Given the description of an element on the screen output the (x, y) to click on. 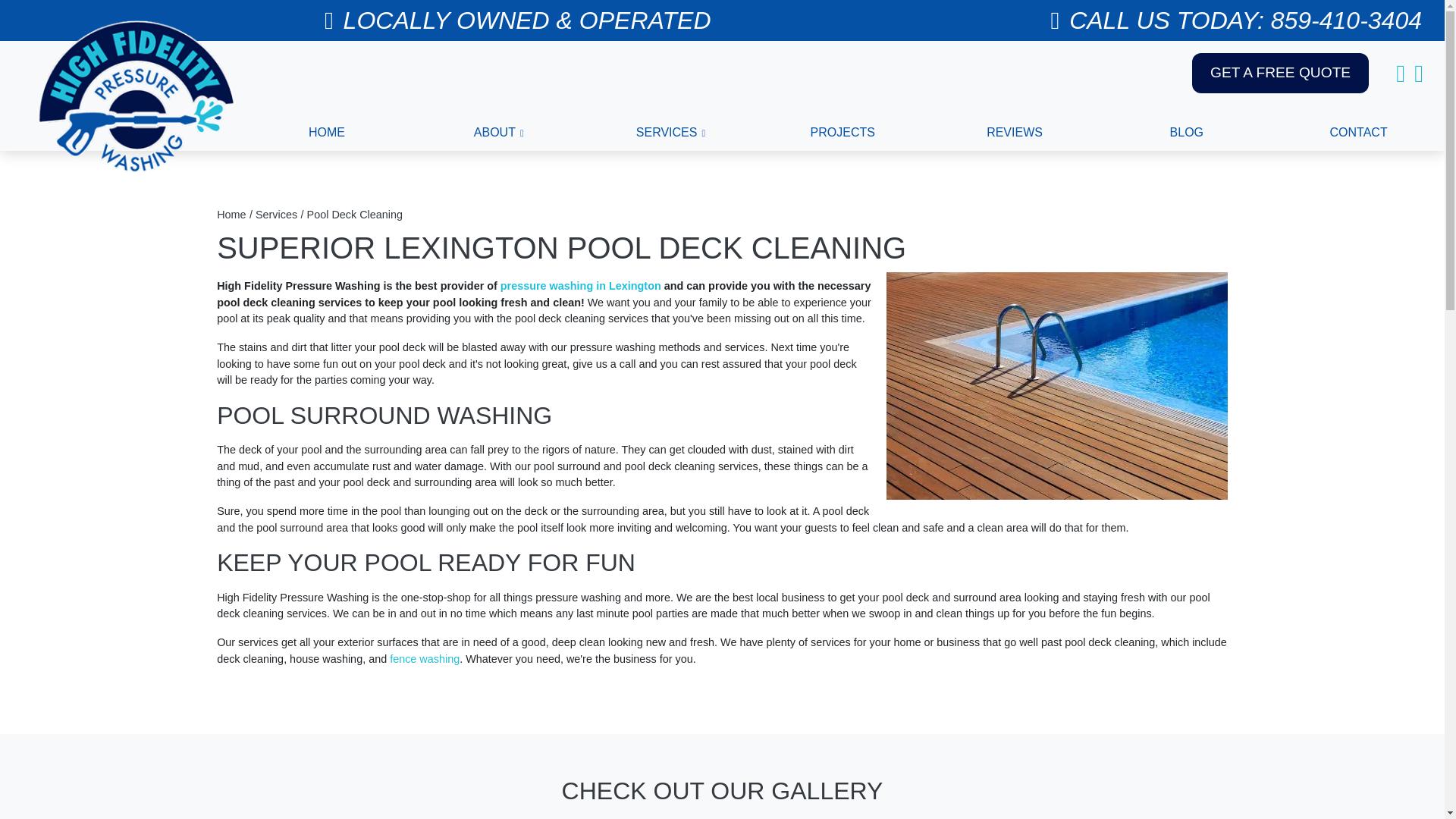
ABOUT (498, 132)
859-410-3404 (1346, 20)
SERVICES (670, 132)
HOME (326, 132)
GET A FREE QUOTE (1280, 73)
Home (231, 214)
Pool Deck Cleaning (355, 214)
Services (276, 214)
